Given the description of an element on the screen output the (x, y) to click on. 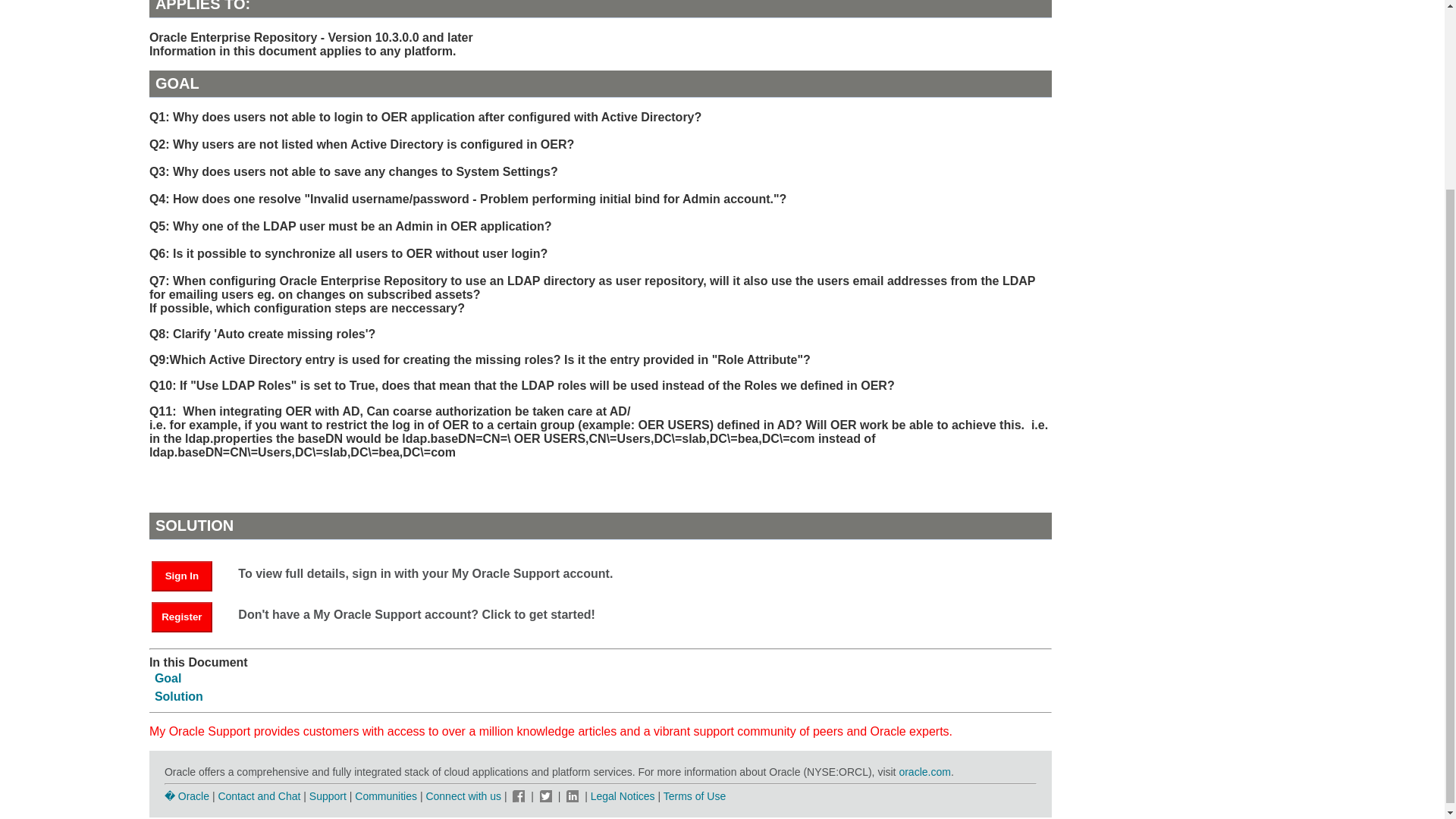
Contact and Chat (257, 796)
Register (181, 616)
oracle.com (924, 771)
Register (189, 615)
Sign In (189, 574)
Solution (178, 696)
Communities (385, 796)
Connect with us (464, 796)
Terms of Use (694, 796)
Support (327, 796)
